Given the description of an element on the screen output the (x, y) to click on. 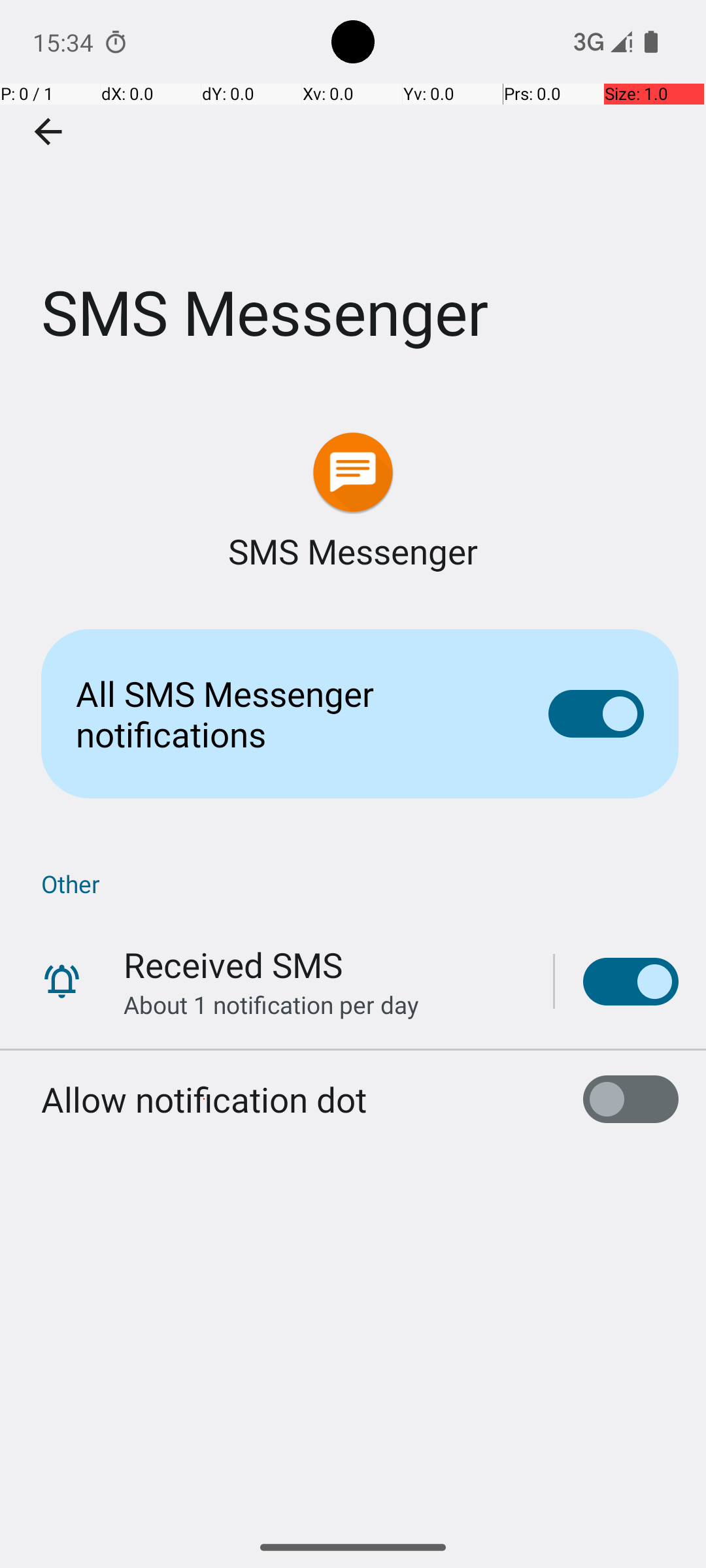
All SMS Messenger notifications Element type: android.widget.TextView (291, 713)
Received SMS Element type: android.widget.TextView (232, 964)
About 1 notification per day Element type: android.widget.TextView (271, 1004)
